Given the description of an element on the screen output the (x, y) to click on. 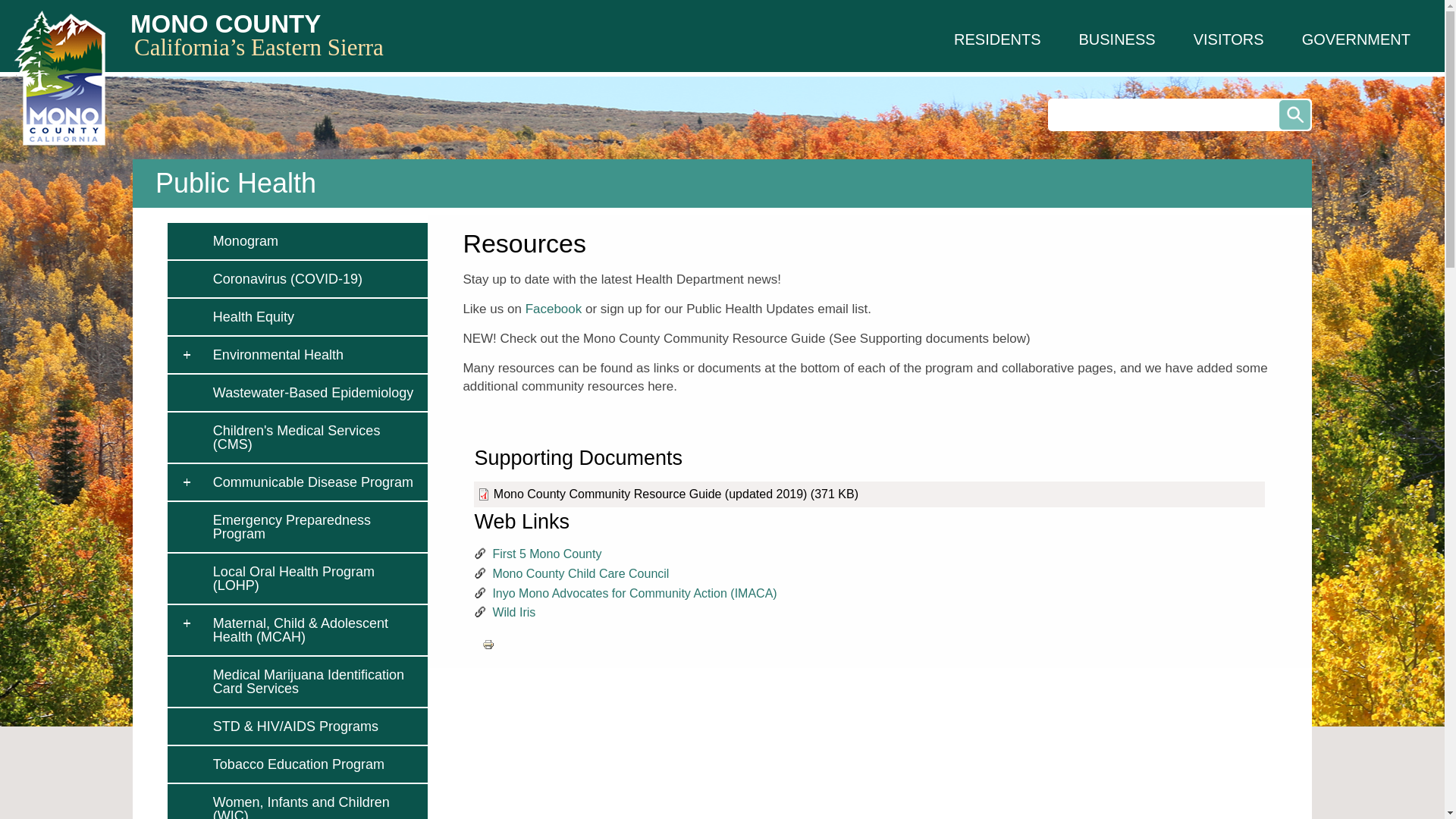
RESIDENTS (997, 39)
Emergency Preparedness Program (316, 527)
Printer-friendly version (488, 644)
Enter the terms you wish to search for. (1179, 114)
Search (1294, 114)
